Given the description of an element on the screen output the (x, y) to click on. 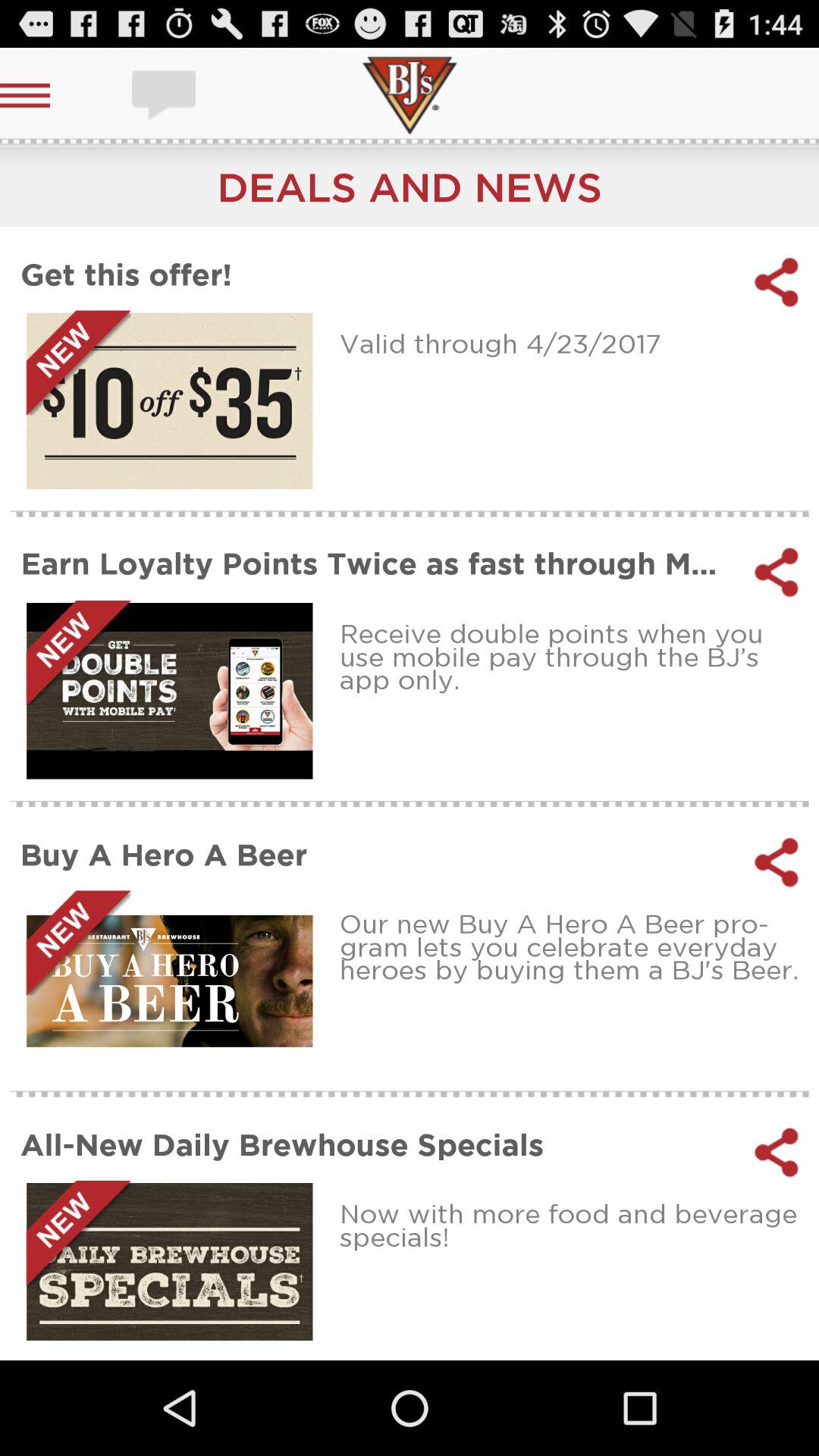
open icon at the bottom (377, 1144)
